Given the description of an element on the screen output the (x, y) to click on. 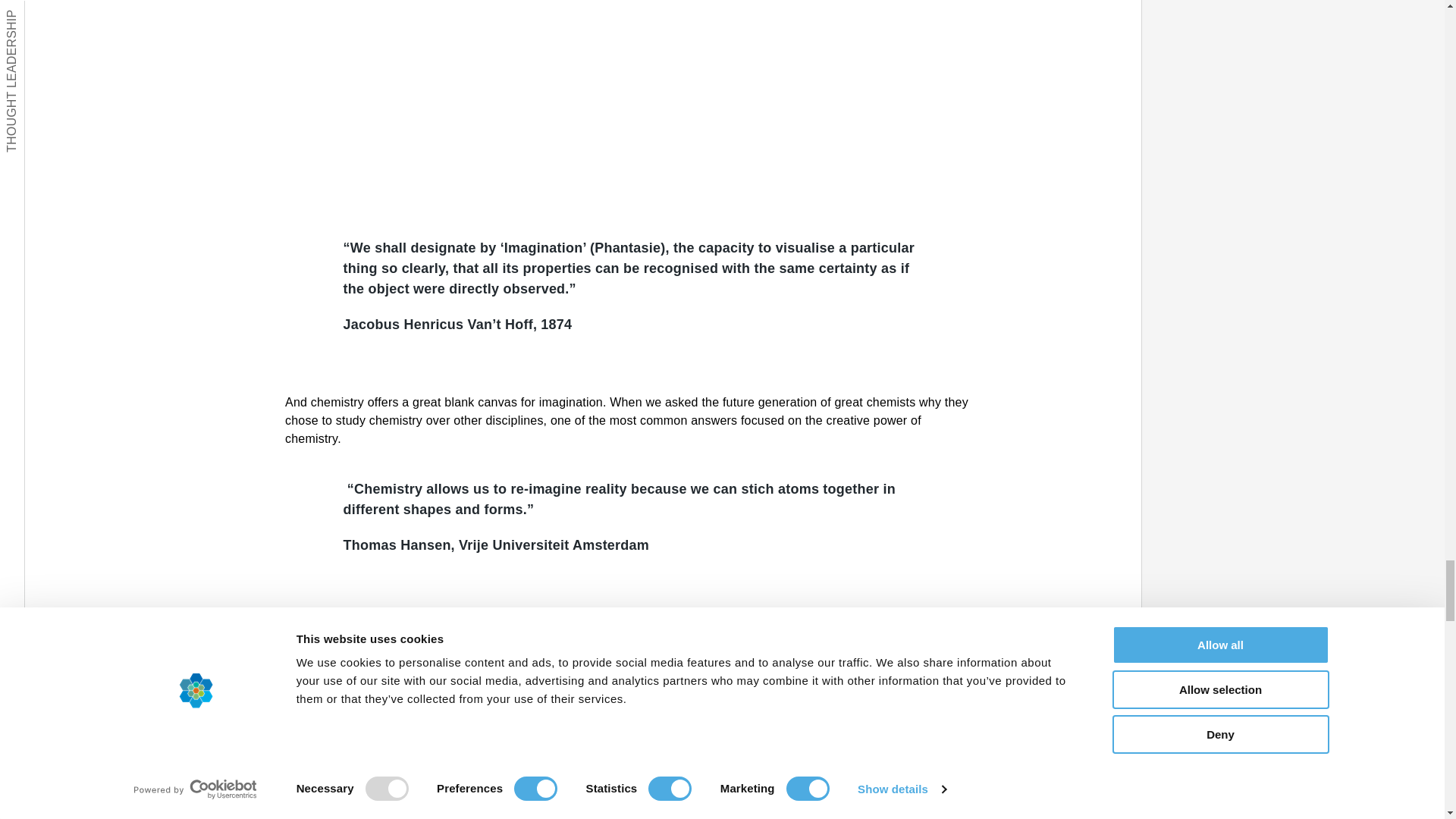
YouTube video player (630, 730)
